Given the description of an element on the screen output the (x, y) to click on. 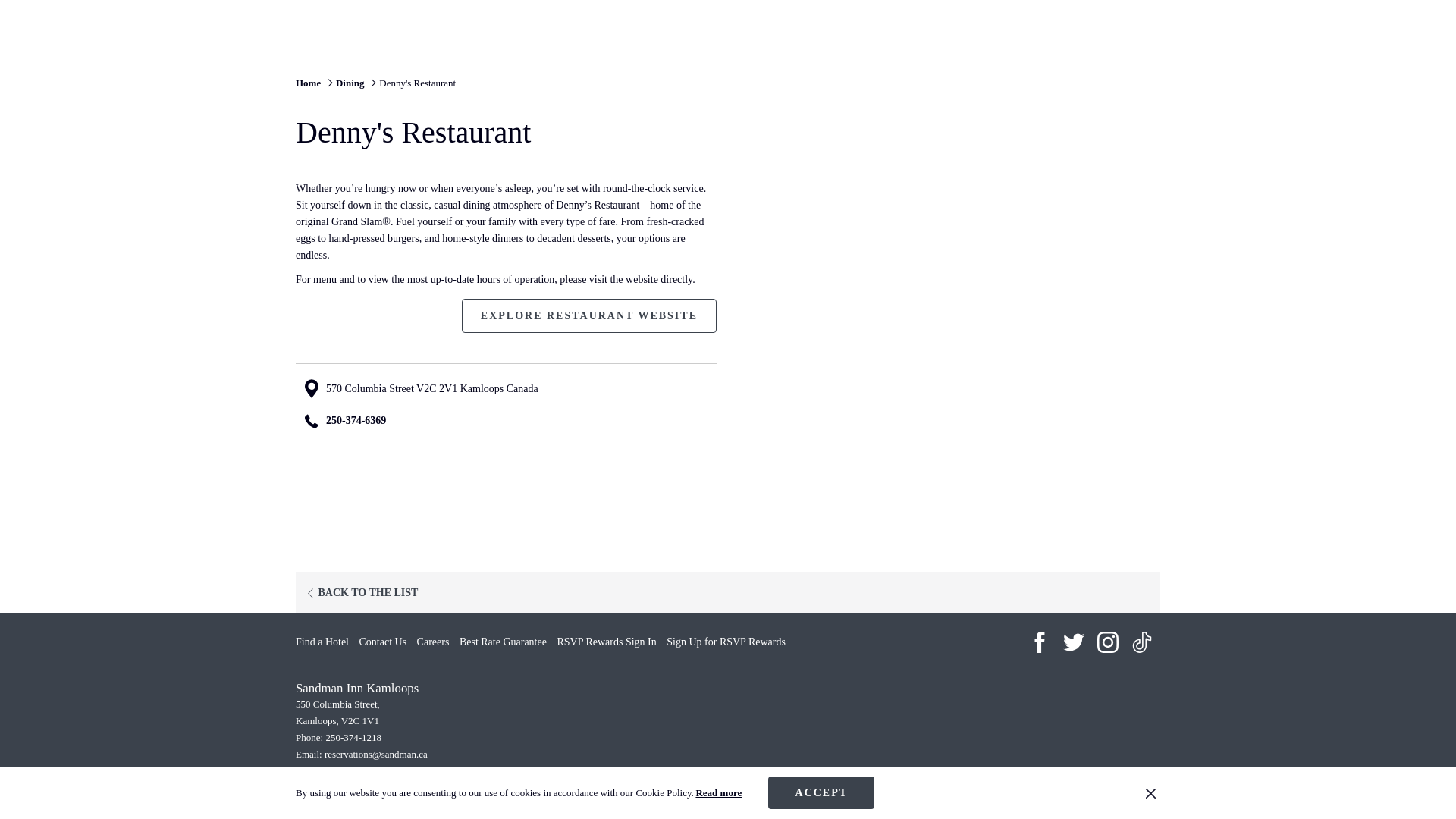
Home (307, 82)
A Northland Properties Company (622, 778)
Contact Us (383, 642)
Best Rate Guarantee (503, 642)
EXPLORE RESTAURANT WEBSITE (588, 315)
Denny's Restaurant (416, 82)
Privacy Policy (832, 778)
RSVP Rewards Sign In (606, 642)
Find a Hotel (322, 642)
Sign Up for RSVP Rewards (726, 642)
250-374-6369 (355, 419)
250-374-1218 (352, 737)
Careers (361, 592)
Dining (432, 642)
